Given the description of an element on the screen output the (x, y) to click on. 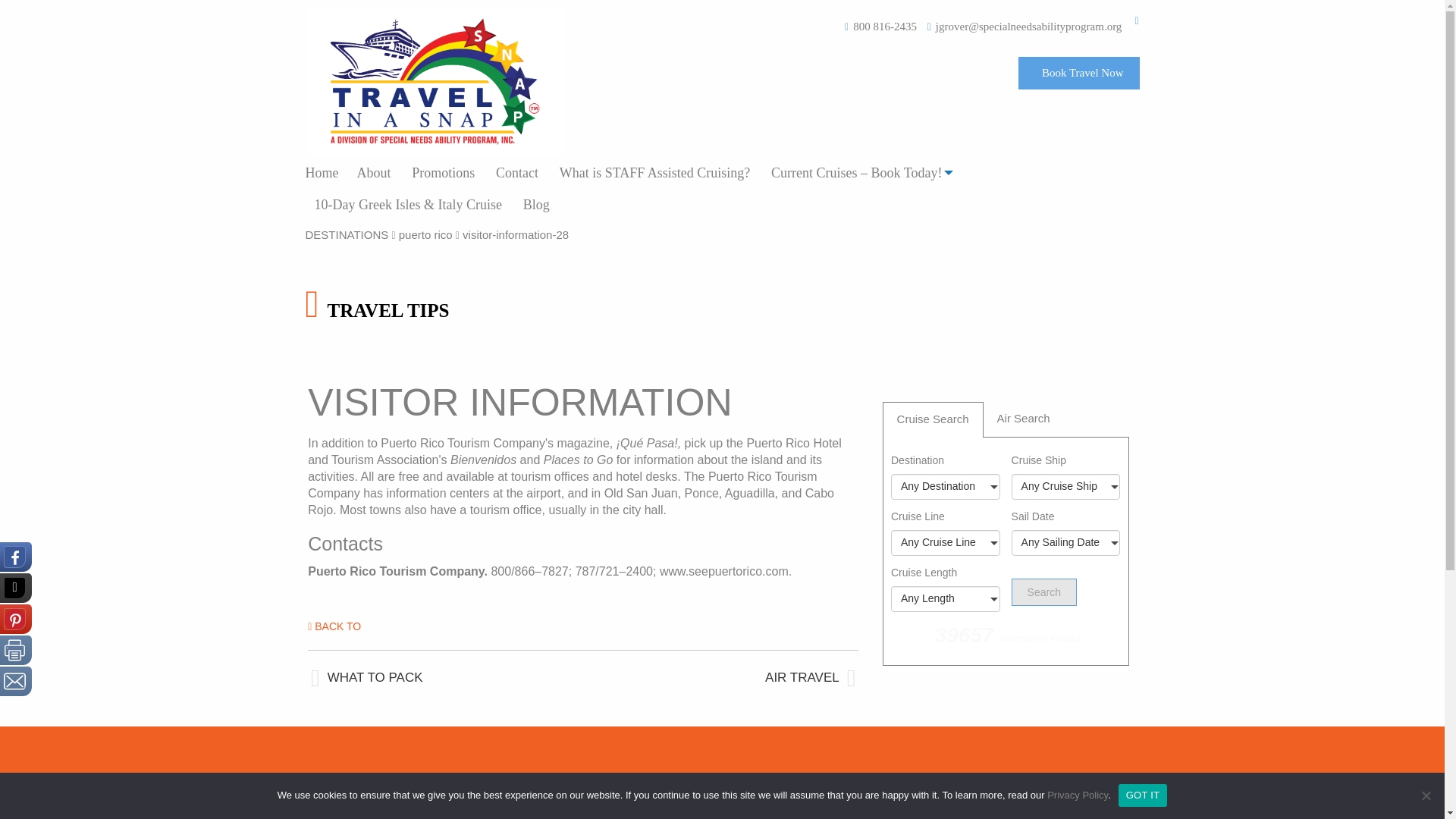
puerto rico (425, 234)
www.seepuertorico.com (724, 571)
BACK TO (334, 626)
DESTINATIONS (346, 234)
Contact (516, 173)
800 816-2435 (885, 26)
About (372, 173)
Search (1044, 592)
Home (325, 173)
Book Travel Now (1077, 72)
What is STAFF Assisted Cruising? (655, 173)
Promotions (443, 173)
Travel In A SNAP, LLC. (433, 81)
Blog (536, 204)
No (1425, 795)
